Given the description of an element on the screen output the (x, y) to click on. 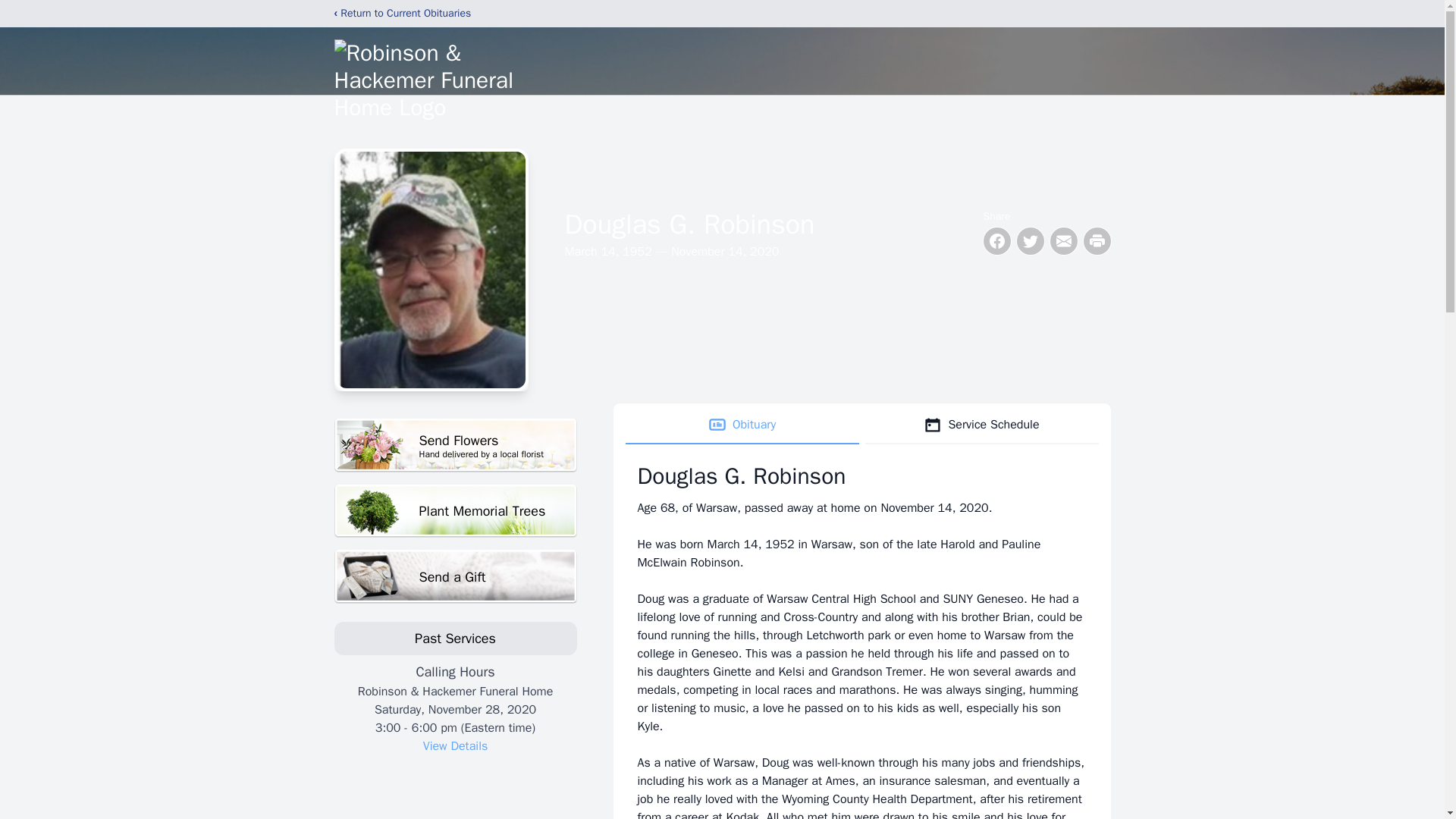
View Details (455, 745)
Service Schedule (980, 425)
Obituary (454, 445)
Send a Gift (741, 425)
Plant Memorial Trees (454, 576)
